Given the description of an element on the screen output the (x, y) to click on. 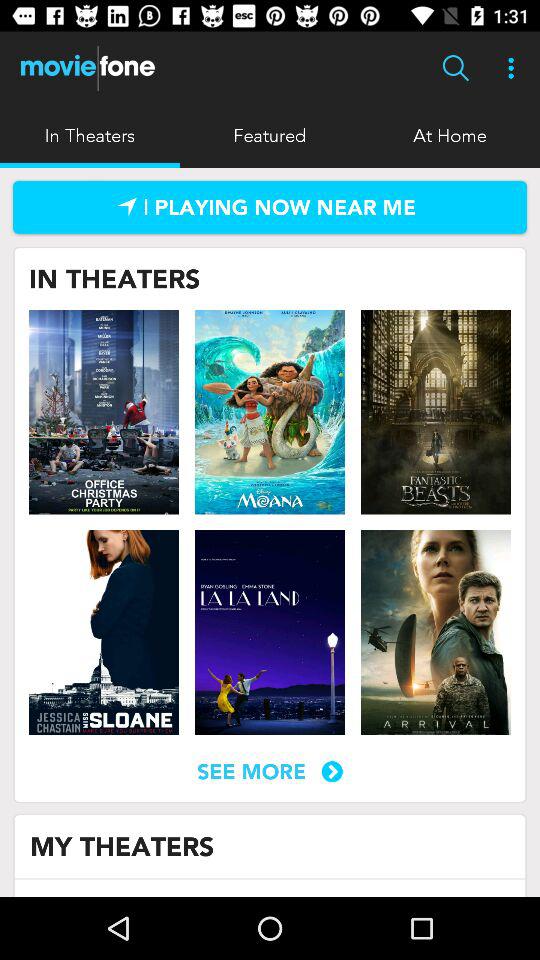
gril (104, 632)
